Given the description of an element on the screen output the (x, y) to click on. 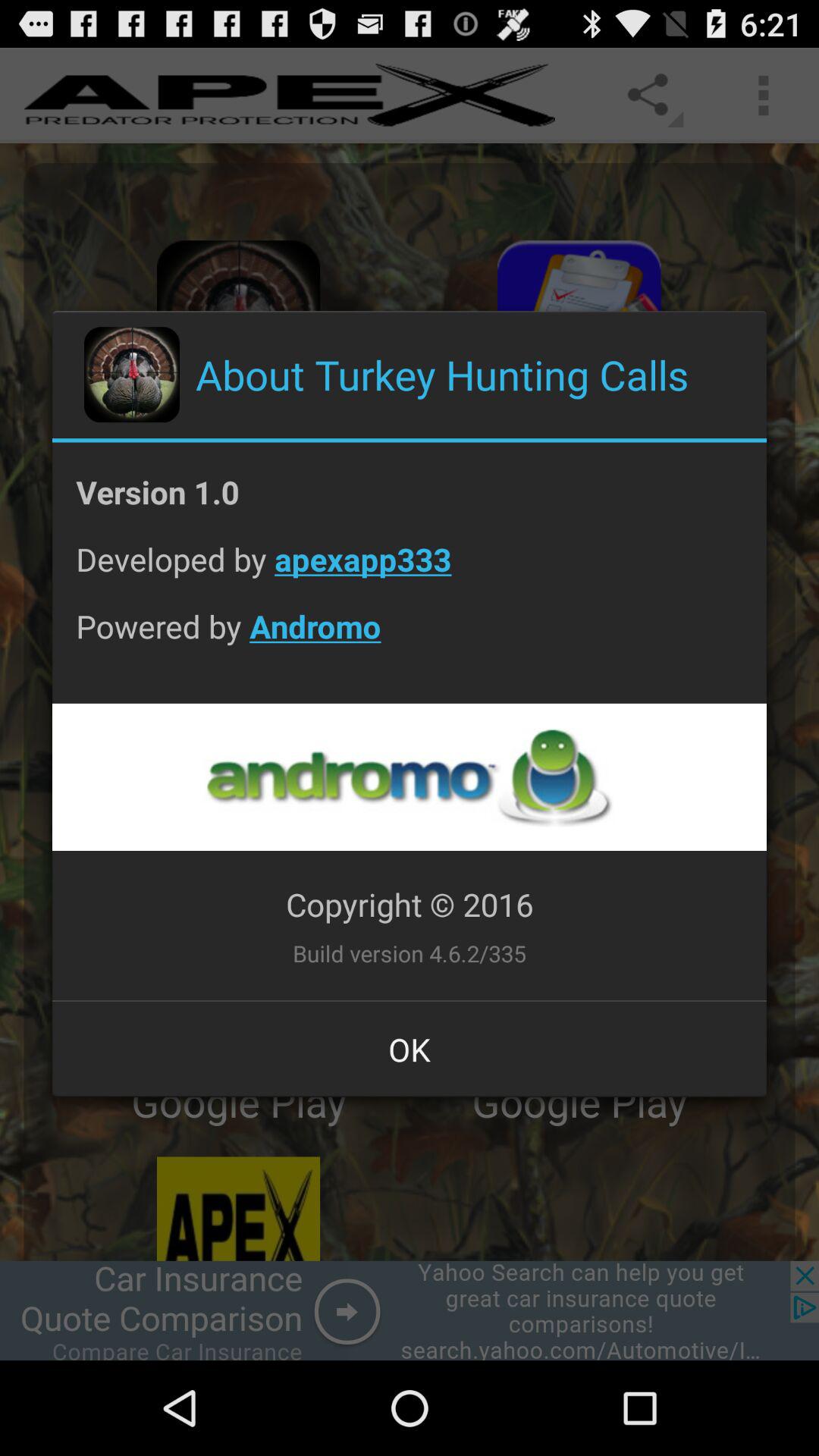
flip until the ok button (409, 1049)
